Given the description of an element on the screen output the (x, y) to click on. 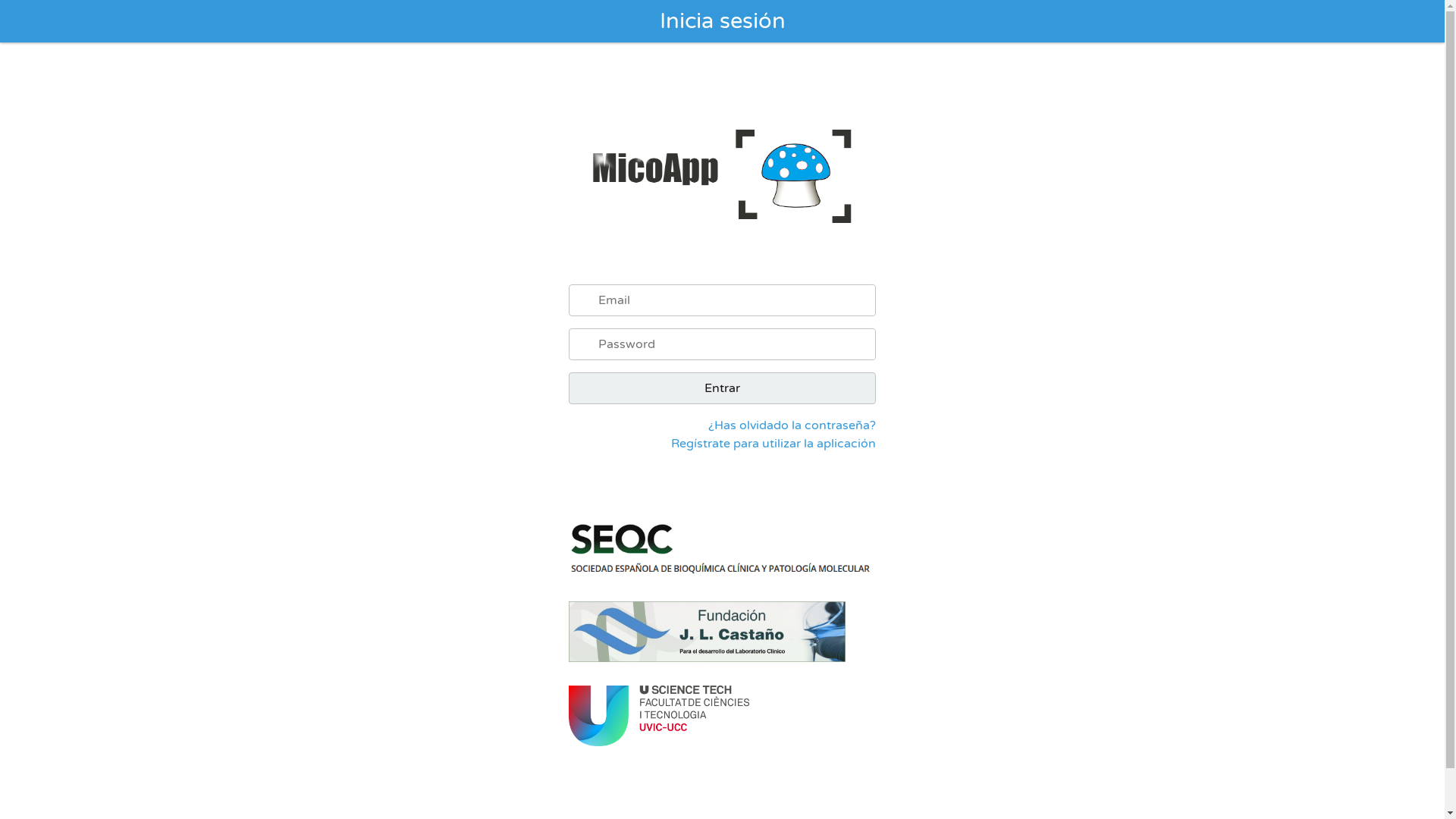
Entrar Element type: text (721, 388)
